Given the description of an element on the screen output the (x, y) to click on. 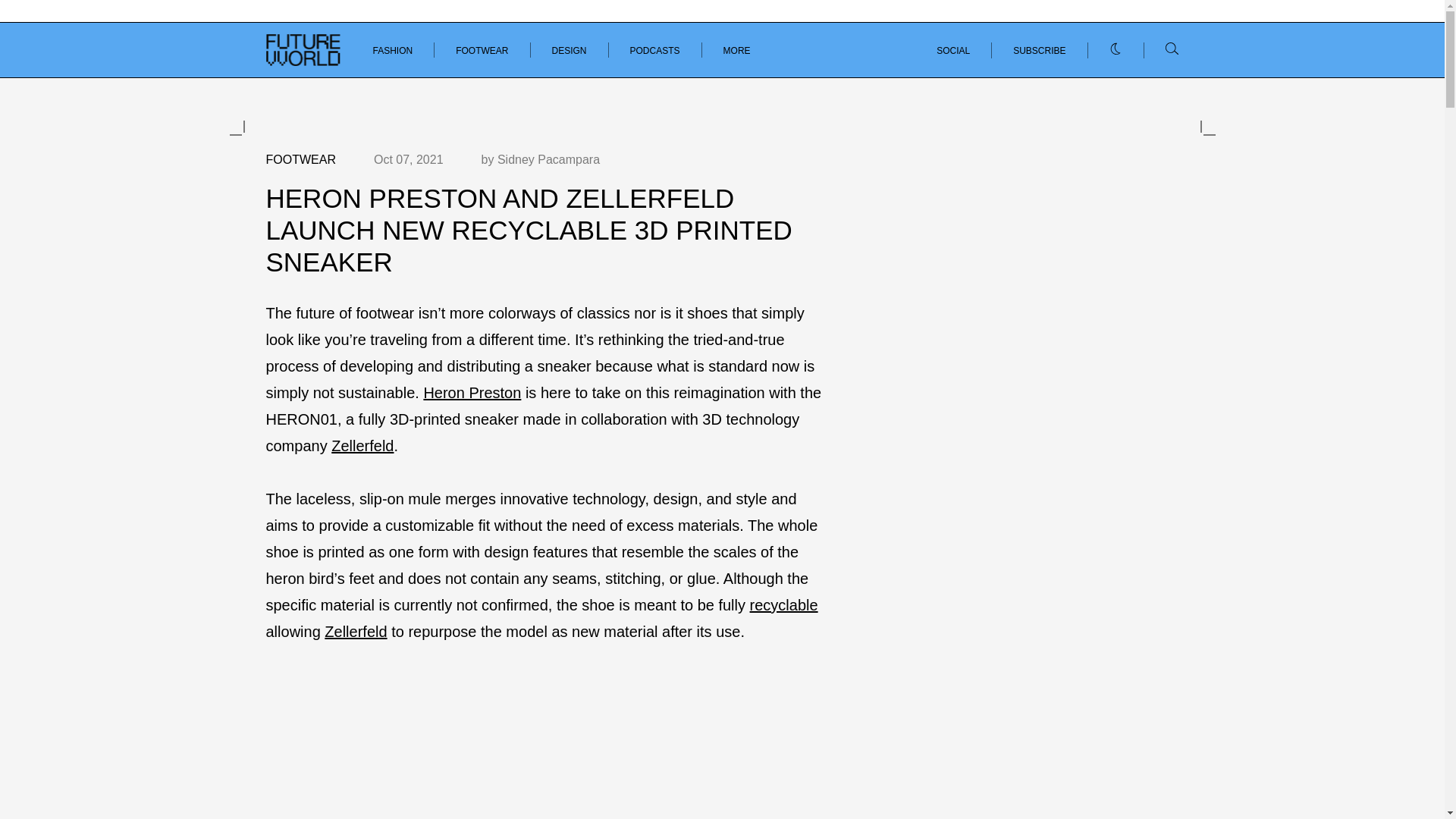
MORE (737, 50)
LINKEDIN (1080, 63)
DESIGN (568, 50)
SOCIAL (952, 50)
SUBSCRIBE (1039, 50)
EARTH (279, 63)
FOOTWEAR (481, 50)
SEARCH (1151, 63)
FACEBOOK (1152, 63)
MEMO (400, 63)
